Given the description of an element on the screen output the (x, y) to click on. 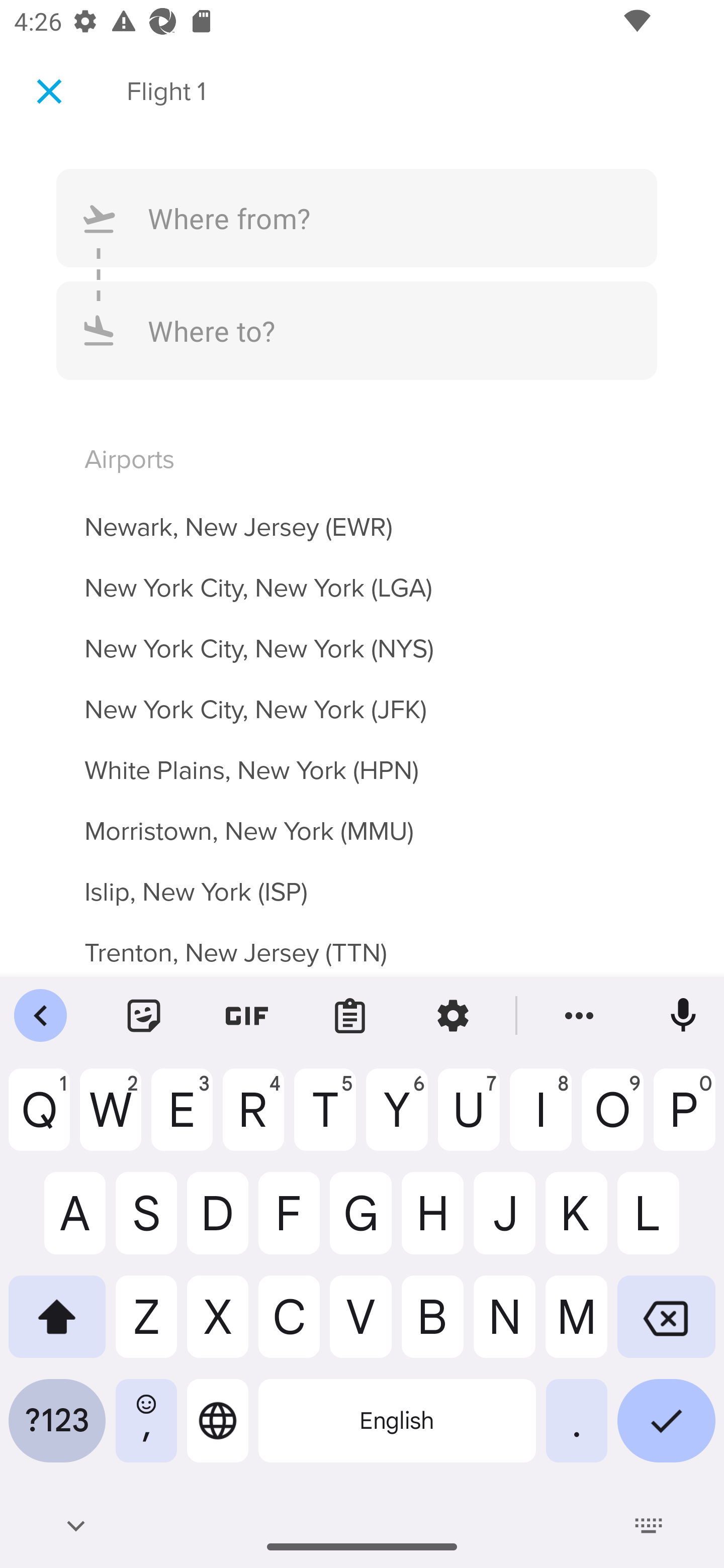
Cancel (49, 90)
Where from? (356, 218)
Where to? (356, 329)
Newark, New Jersey (EWR) (361, 515)
New York City, New York (LGA) (361, 575)
New York City, New York (NYS) (361, 636)
New York City, New York (JFK) (361, 698)
White Plains, New York (HPN) (361, 759)
Morristown, New York (MMU) (361, 819)
Islip, New York (ISP) (361, 880)
Trenton, New Jersey (TTN) (361, 943)
